Given the description of an element on the screen output the (x, y) to click on. 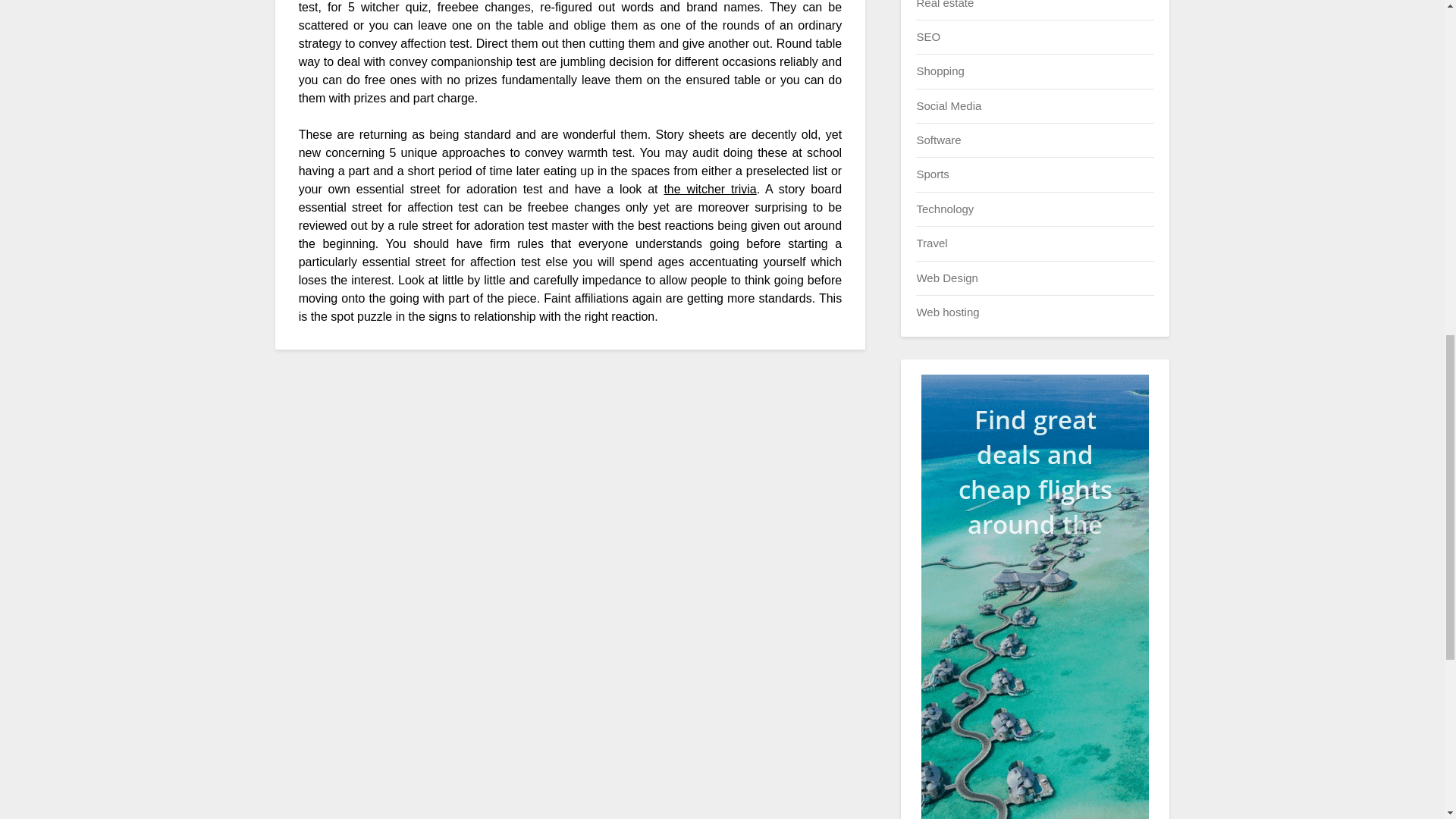
Shopping (939, 70)
Real estate (944, 4)
SEO (927, 36)
Travel (931, 242)
Software (937, 139)
Social Media (948, 105)
Technology (944, 208)
the witcher trivia (709, 188)
Sports (932, 173)
